Given the description of an element on the screen output the (x, y) to click on. 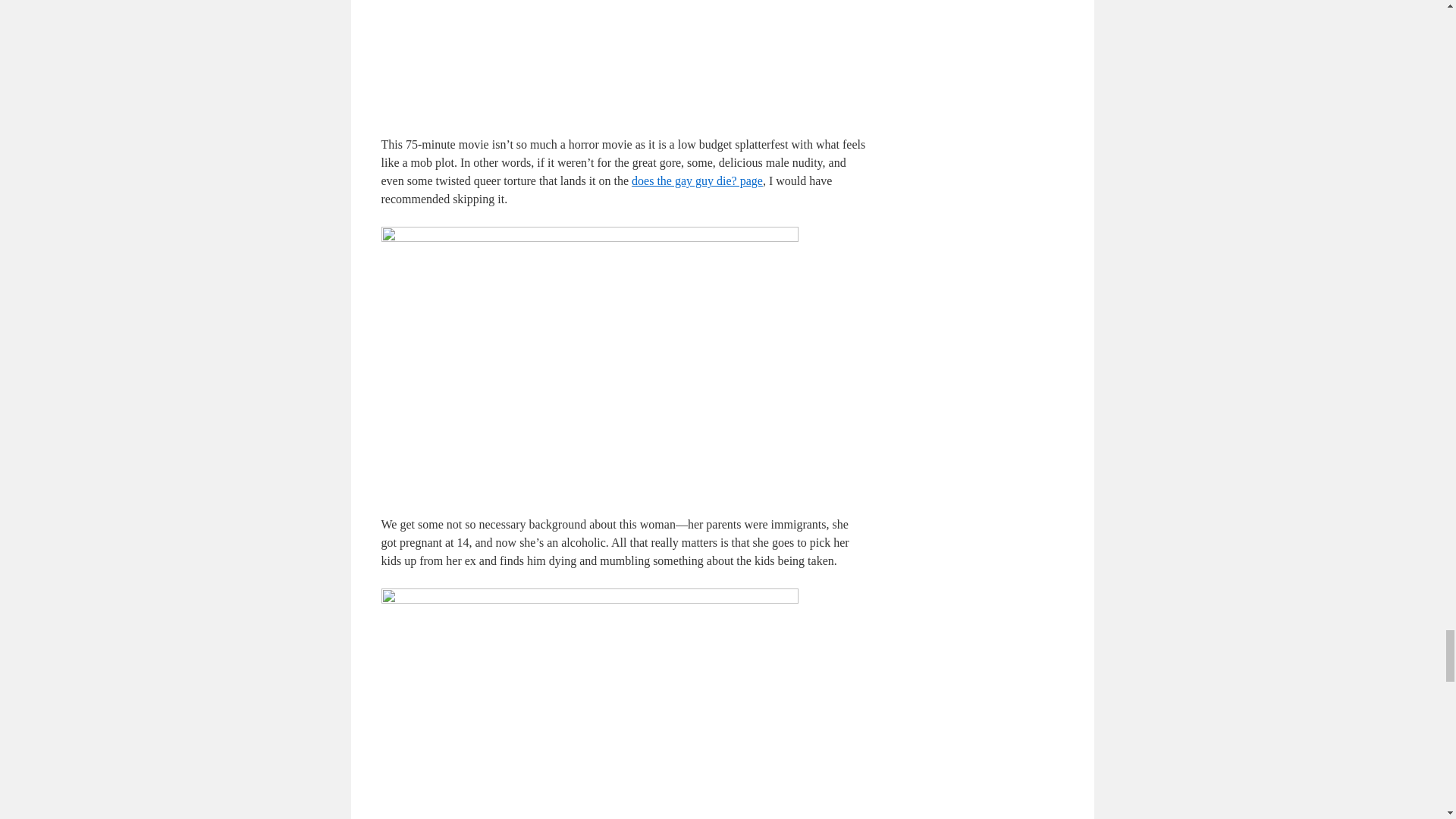
does the gay guy die? page (696, 180)
